Given the description of an element on the screen output the (x, y) to click on. 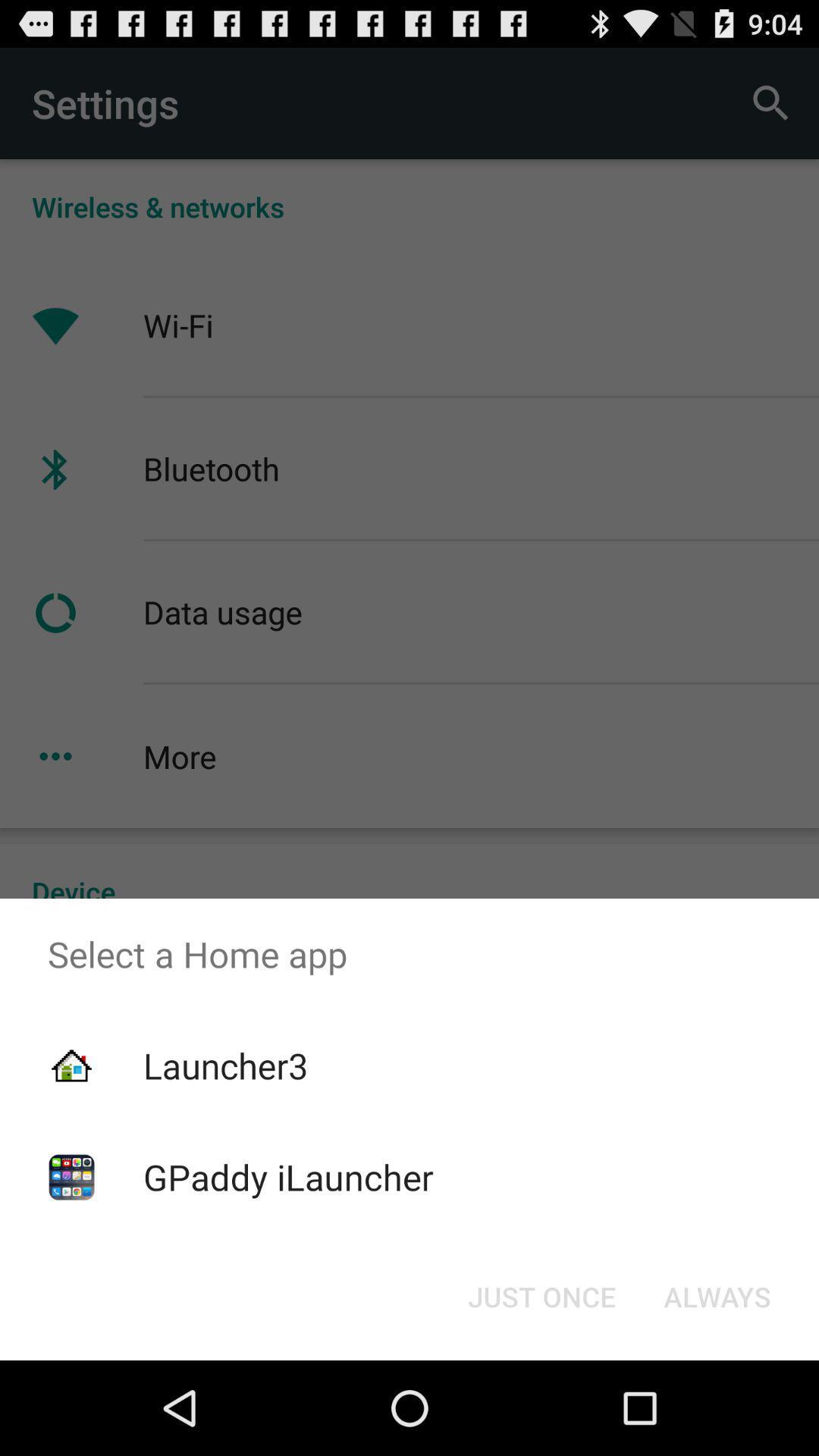
choose the icon above the gpaddy ilauncher (225, 1065)
